Given the description of an element on the screen output the (x, y) to click on. 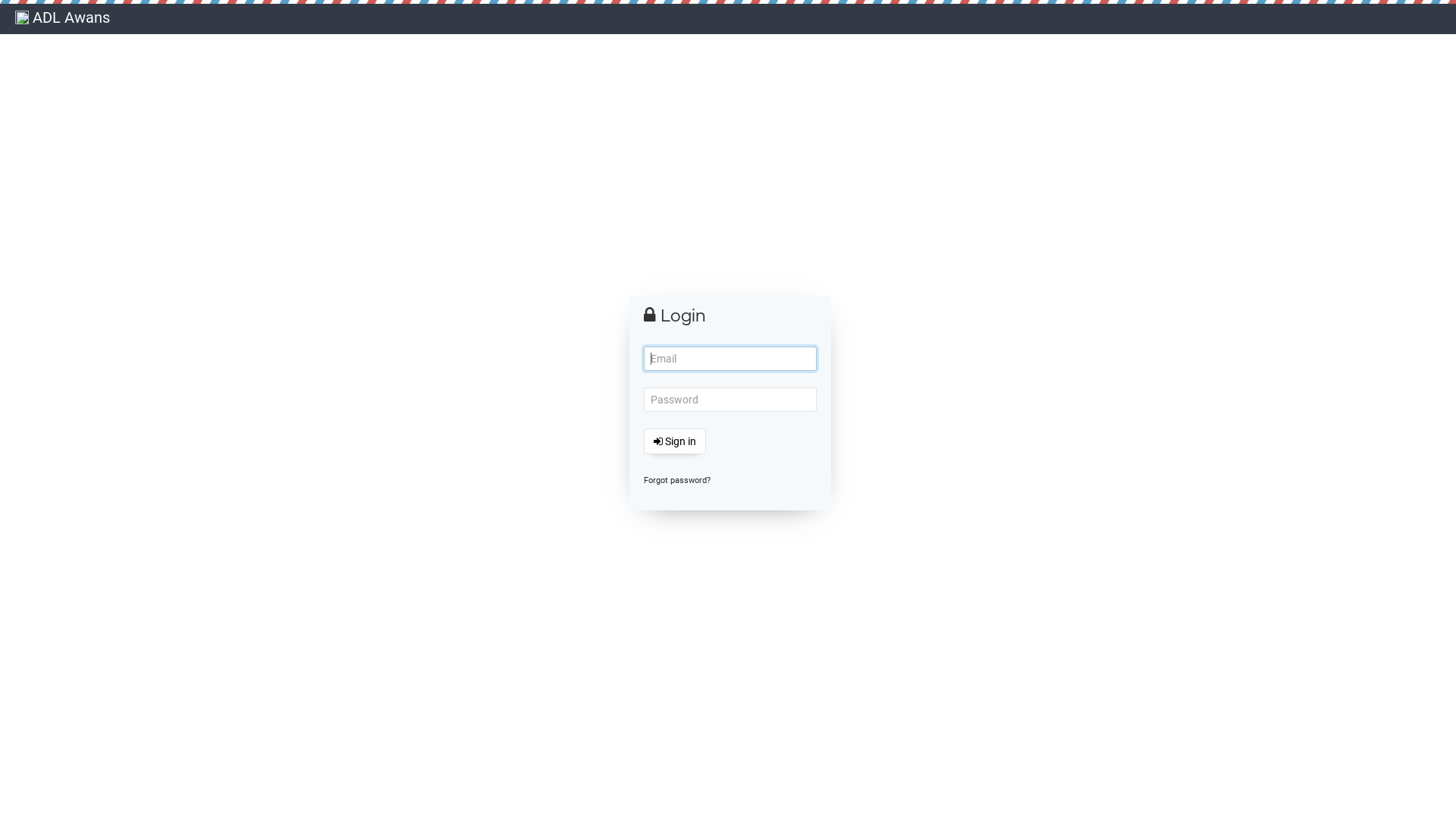
ADL Awans Element type: text (62, 18)
Sign in Element type: text (674, 441)
Forgot password? Element type: text (676, 480)
